Given the description of an element on the screen output the (x, y) to click on. 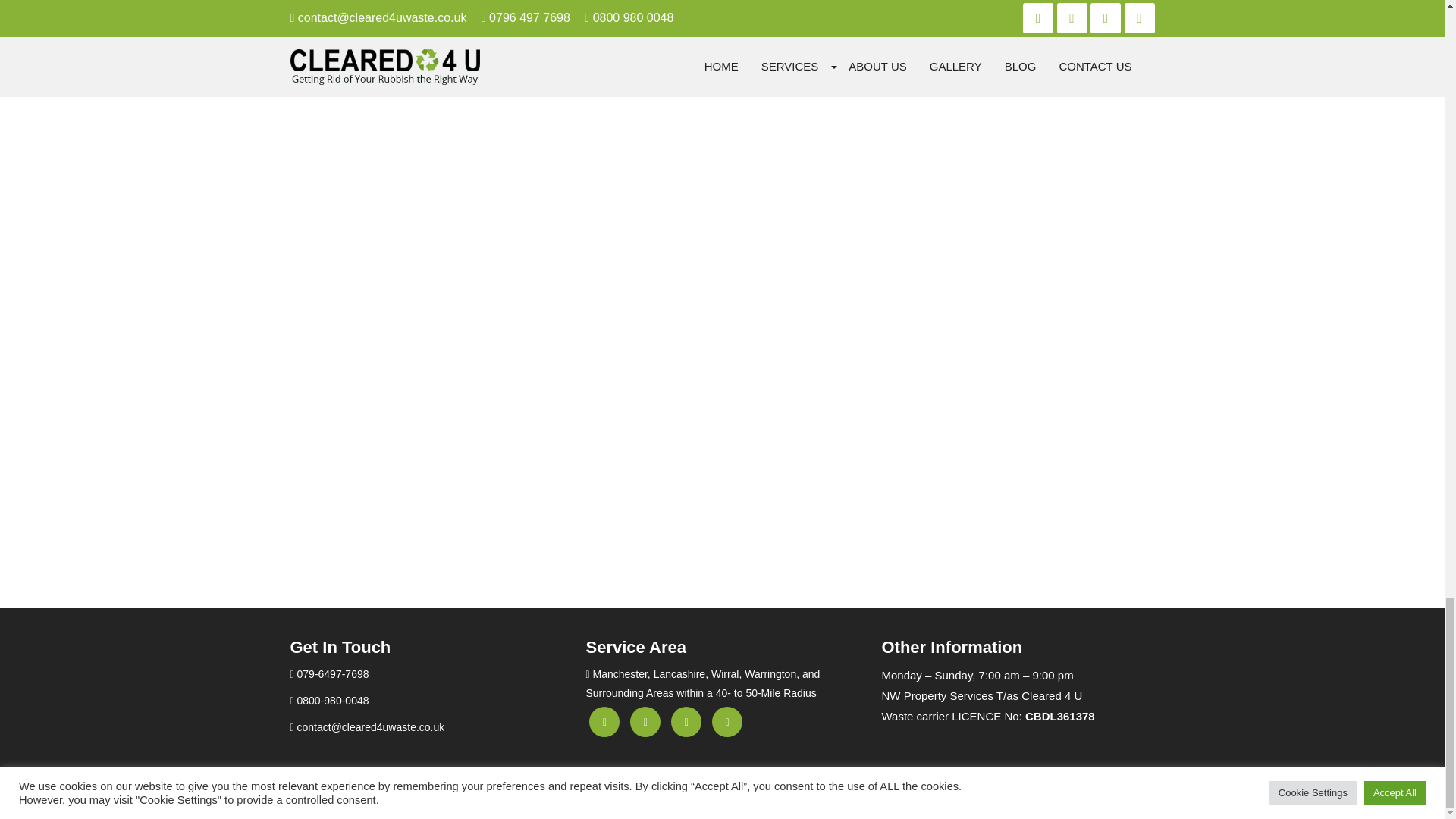
SUBMIT YOUR REQUEST (403, 43)
079-6497-7698 (328, 674)
0800-980-0048 (328, 700)
